Given the description of an element on the screen output the (x, y) to click on. 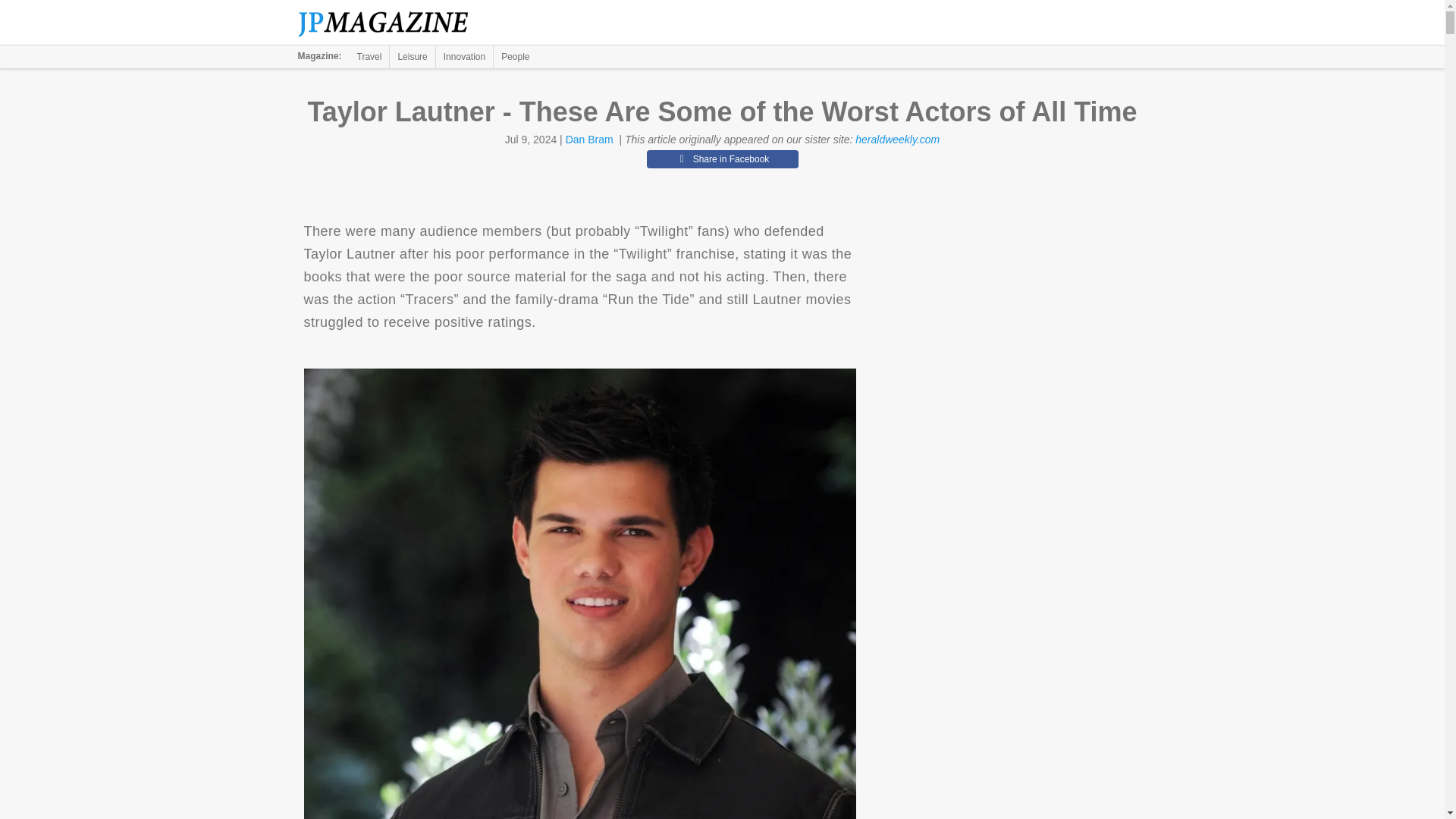
Leisure (411, 56)
The Jerusalem Post Magazine (391, 22)
Innovation (464, 56)
Dan Bram (589, 139)
Travel (369, 56)
heraldweekly.com (897, 139)
Share in Facebook (721, 158)
People (515, 56)
